Given the description of an element on the screen output the (x, y) to click on. 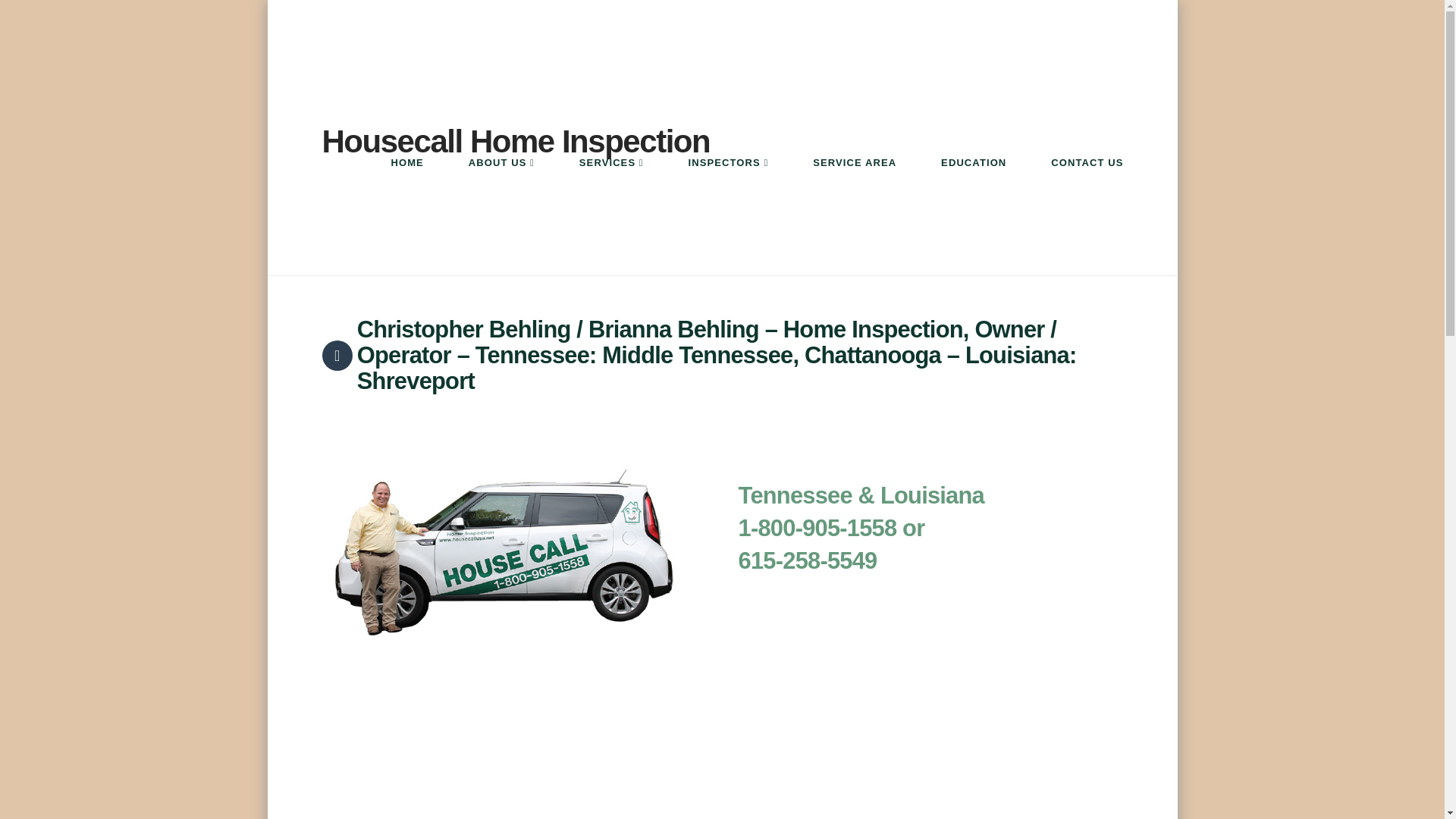
INSPECTORS (727, 188)
ABOUT US (500, 188)
HOME (406, 188)
Housecall Home Inspection (515, 142)
SERVICES (610, 188)
